Given the description of an element on the screen output the (x, y) to click on. 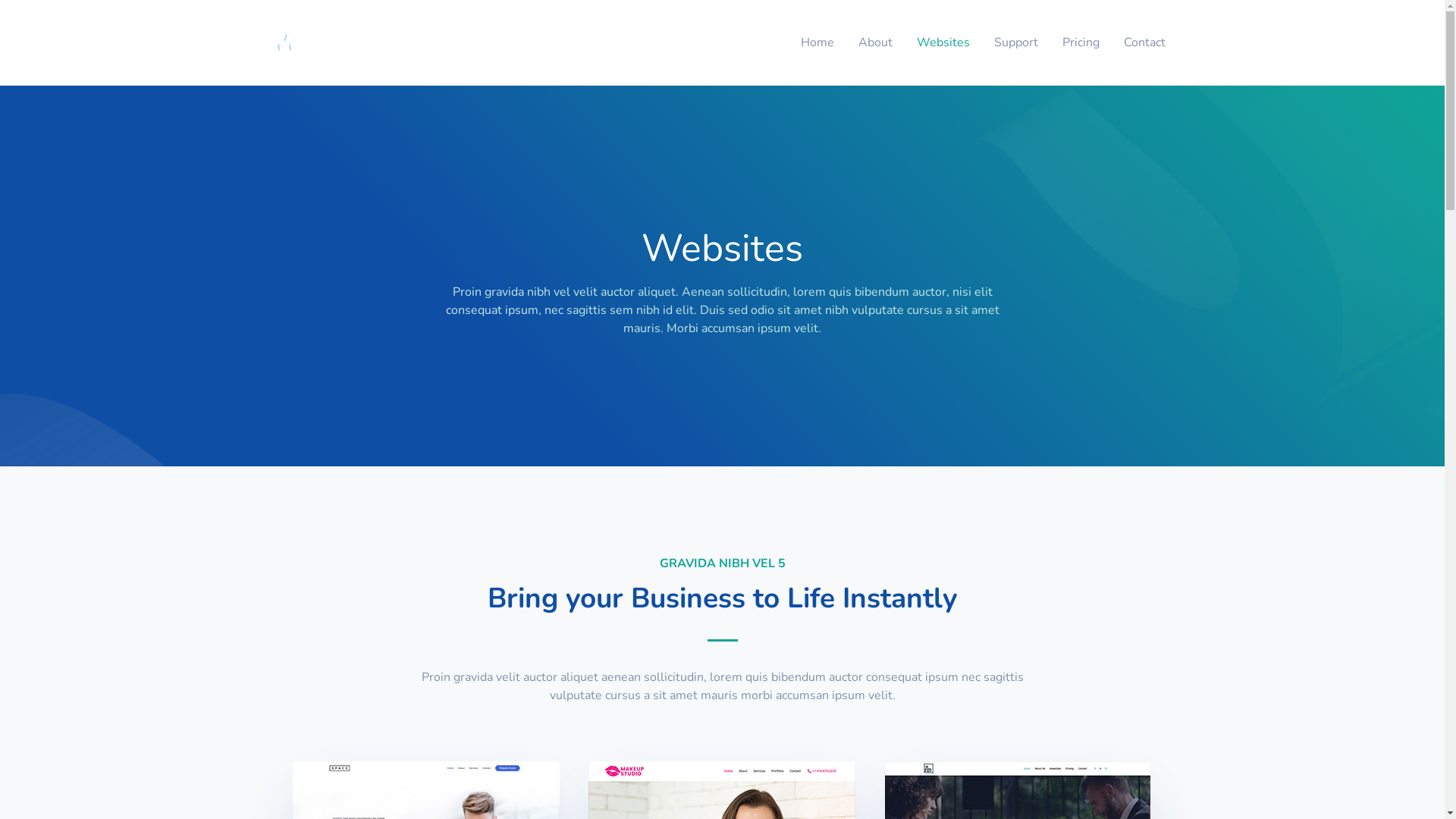
Pricing Element type: text (1079, 42)
Websites Element type: text (942, 42)
Home Element type: text (817, 42)
About Element type: text (875, 42)
Support Element type: text (1015, 42)
Contact Element type: text (1144, 42)
